Given the description of an element on the screen output the (x, y) to click on. 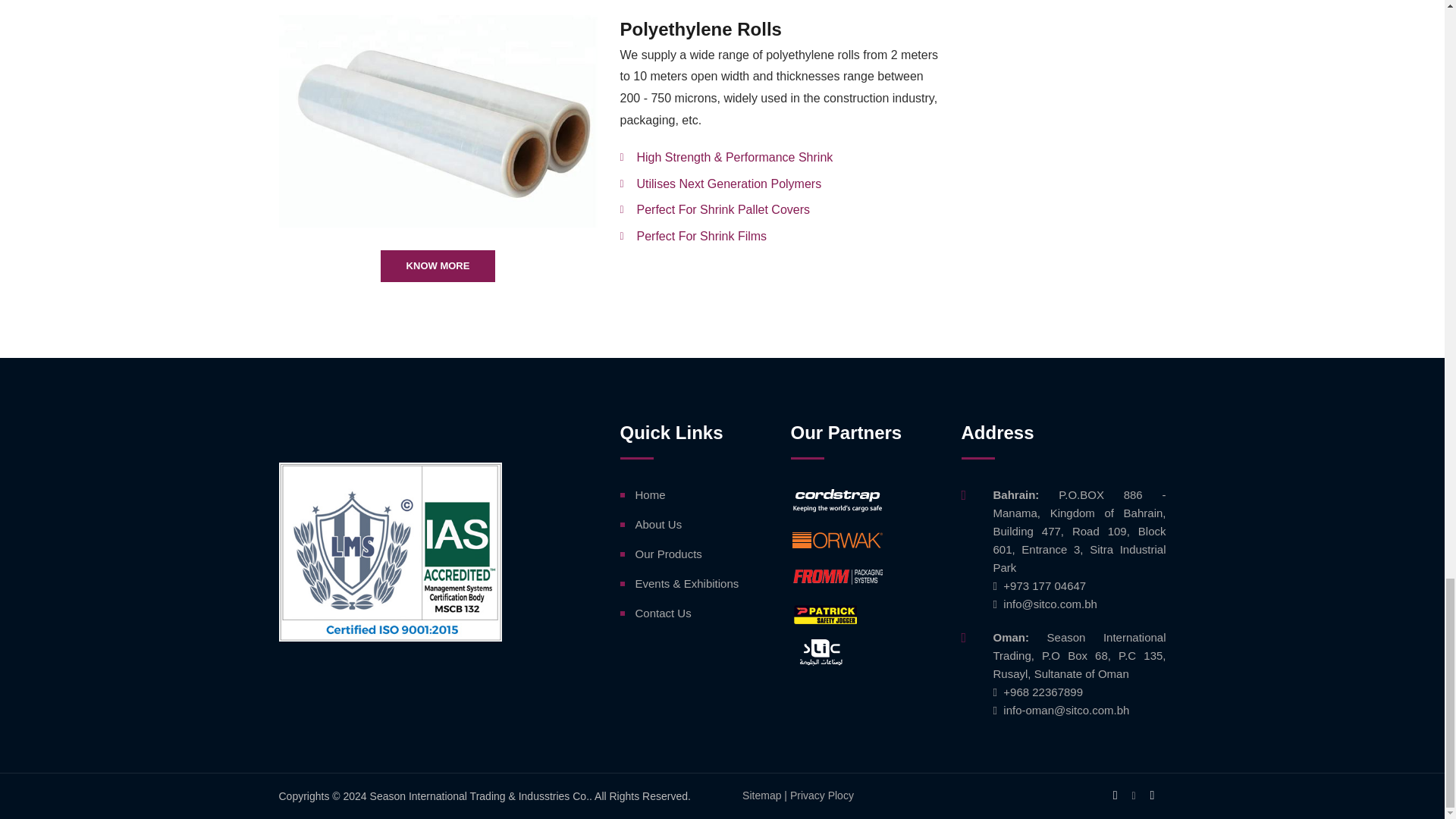
Cordstrap Distributor Bahrain (836, 501)
Fromm Distributor Bahrain (836, 576)
Orwak Distributor Bahrain (836, 539)
Slic Distributor Bahrain (836, 653)
Patrick Safery Jogger Distributor Bahrain (836, 614)
